Given the description of an element on the screen output the (x, y) to click on. 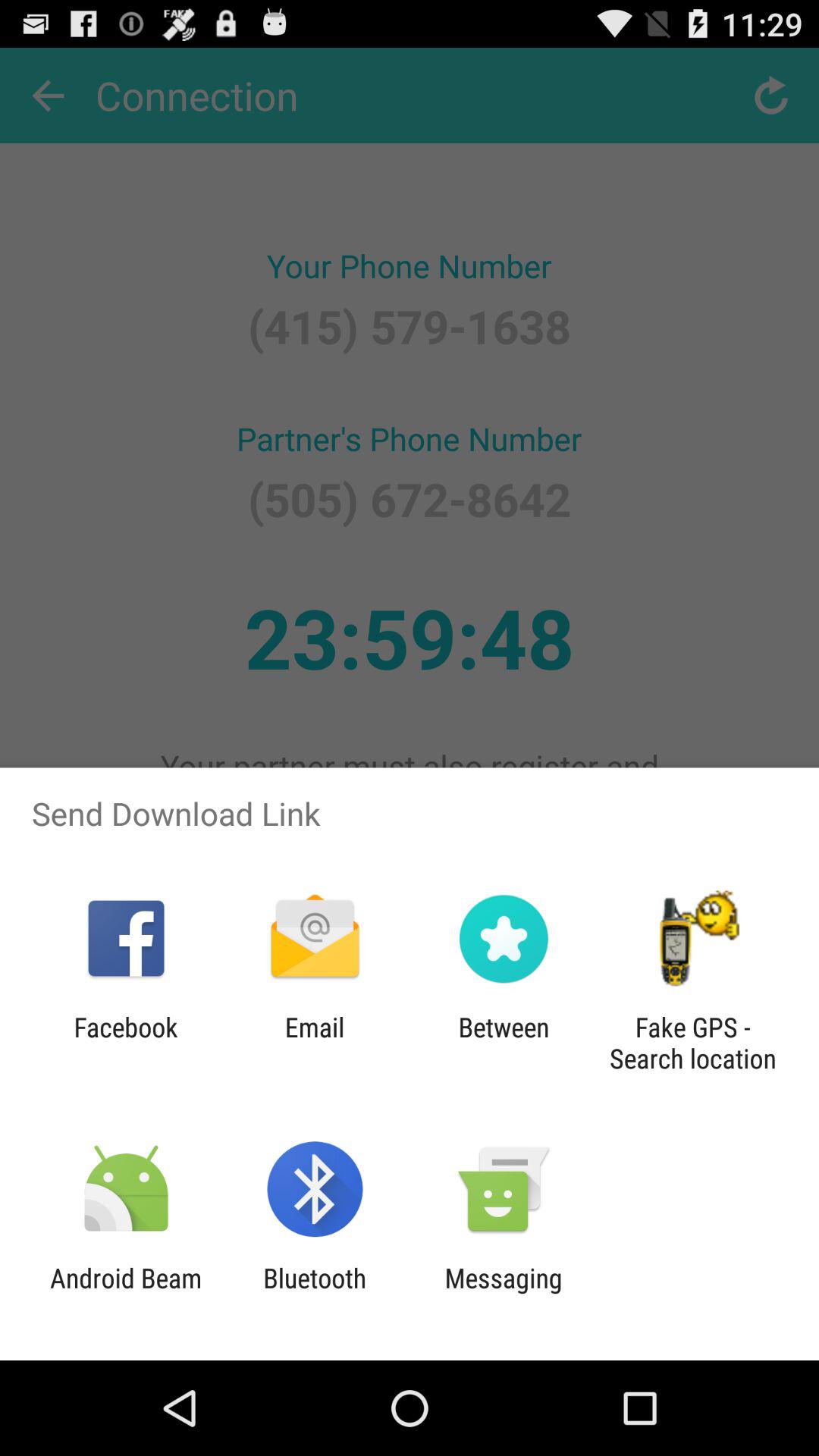
turn on icon next to fake gps search item (503, 1042)
